Given the description of an element on the screen output the (x, y) to click on. 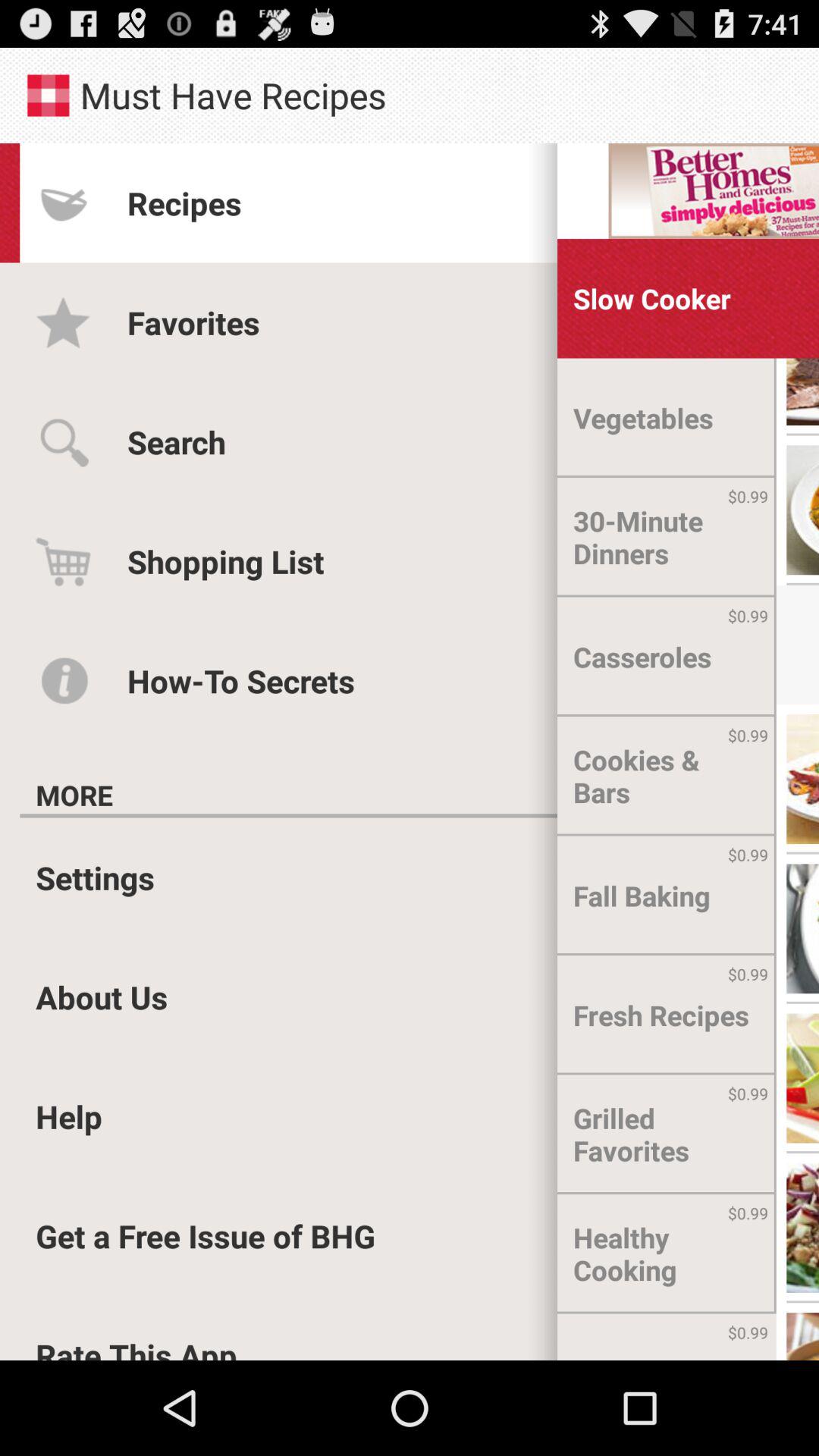
launch help item (68, 1116)
